Given the description of an element on the screen output the (x, y) to click on. 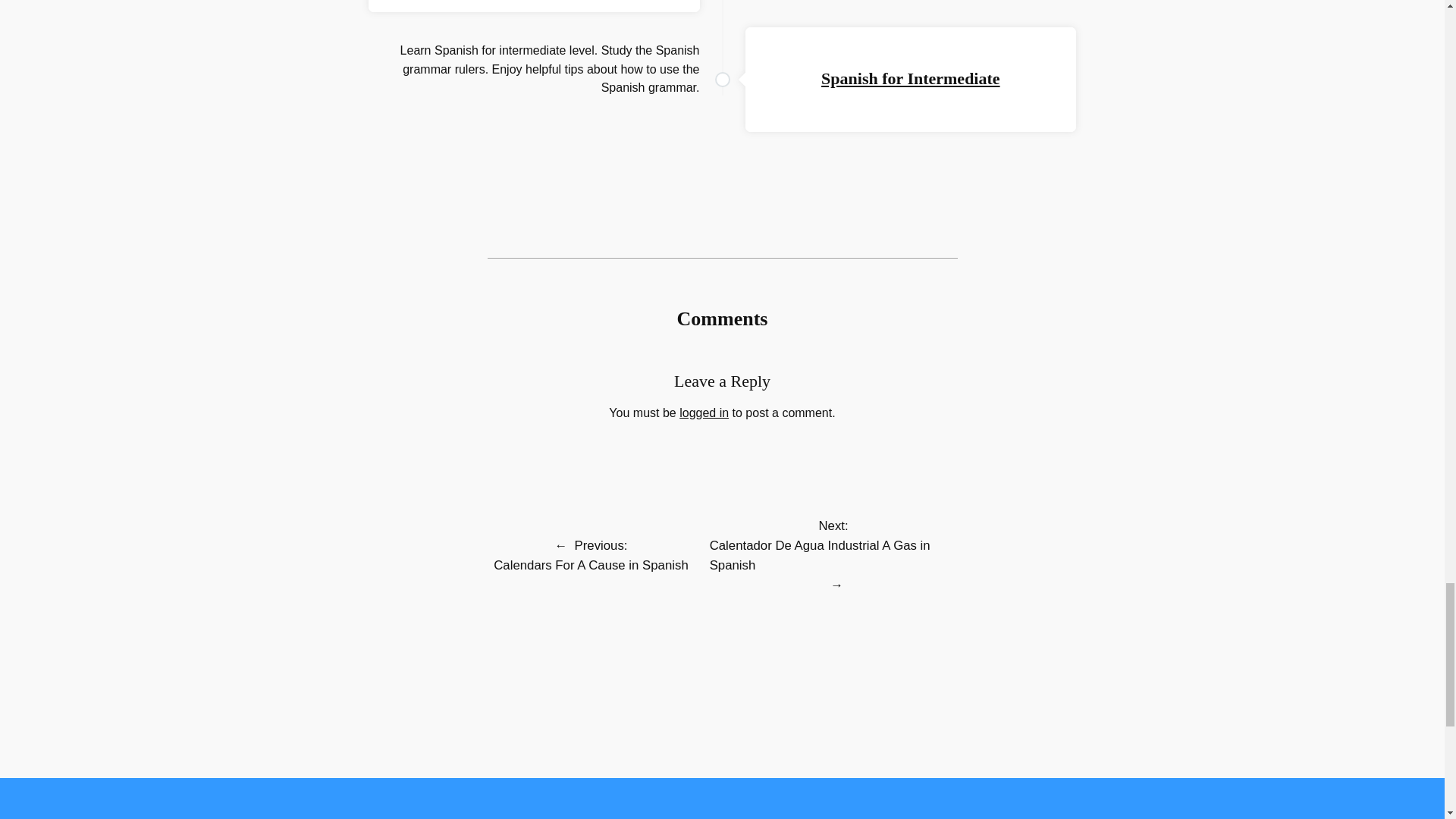
Next: Calentador De Agua Industrial A Gas in Spanish (834, 545)
Spanish for Intermediate (910, 77)
logged in (704, 412)
Previous: Calendars For A Cause in Spanish (590, 555)
